Given the description of an element on the screen output the (x, y) to click on. 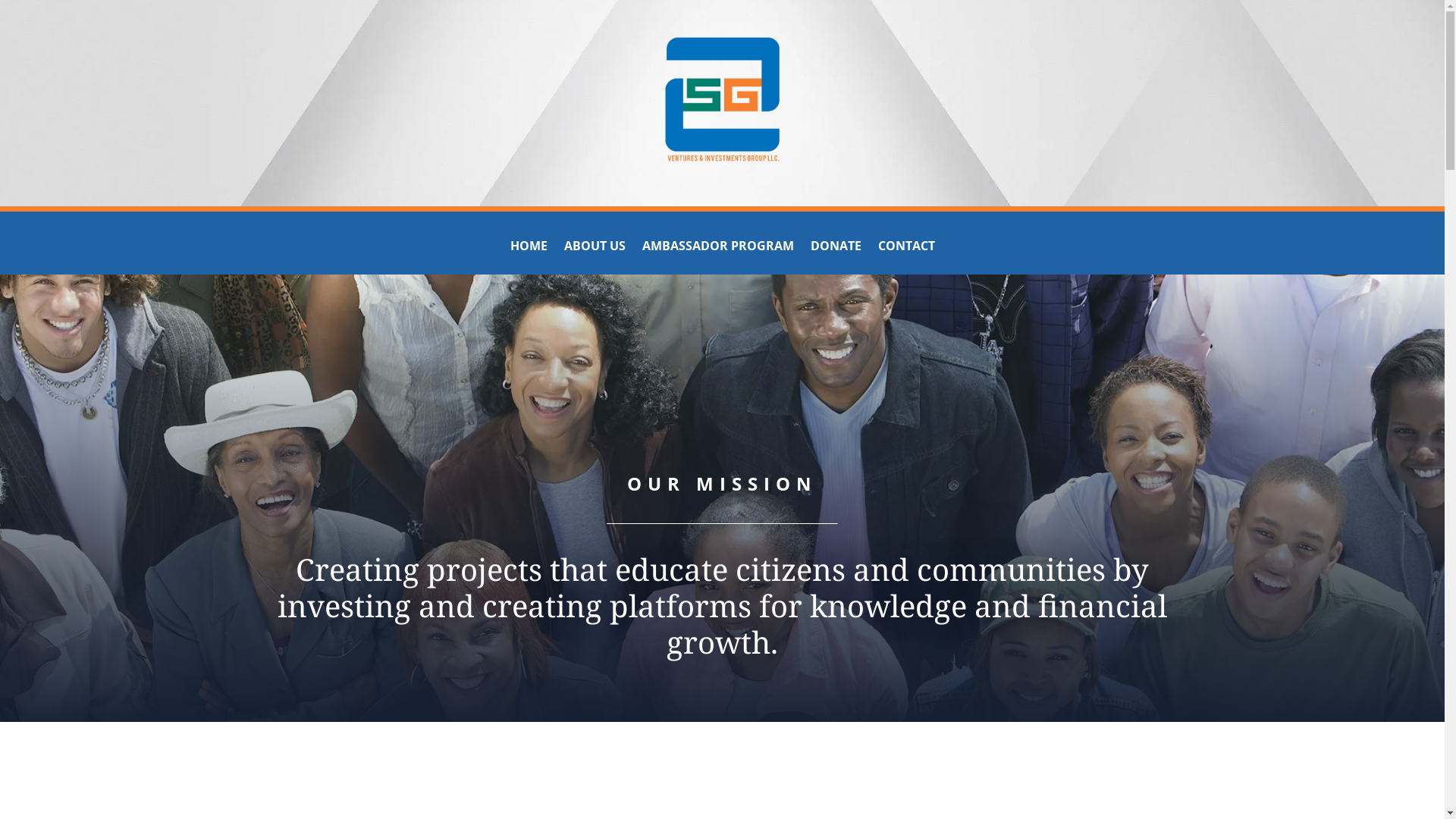
HOME Element type: text (527, 248)
2SG_Color_Logo Element type: hover (721, 98)
ABOUT US Element type: text (594, 248)
CONTACT Element type: text (906, 248)
AMBASSADOR PROGRAM Element type: text (717, 248)
DONATE Element type: text (834, 248)
